Given the description of an element on the screen output the (x, y) to click on. 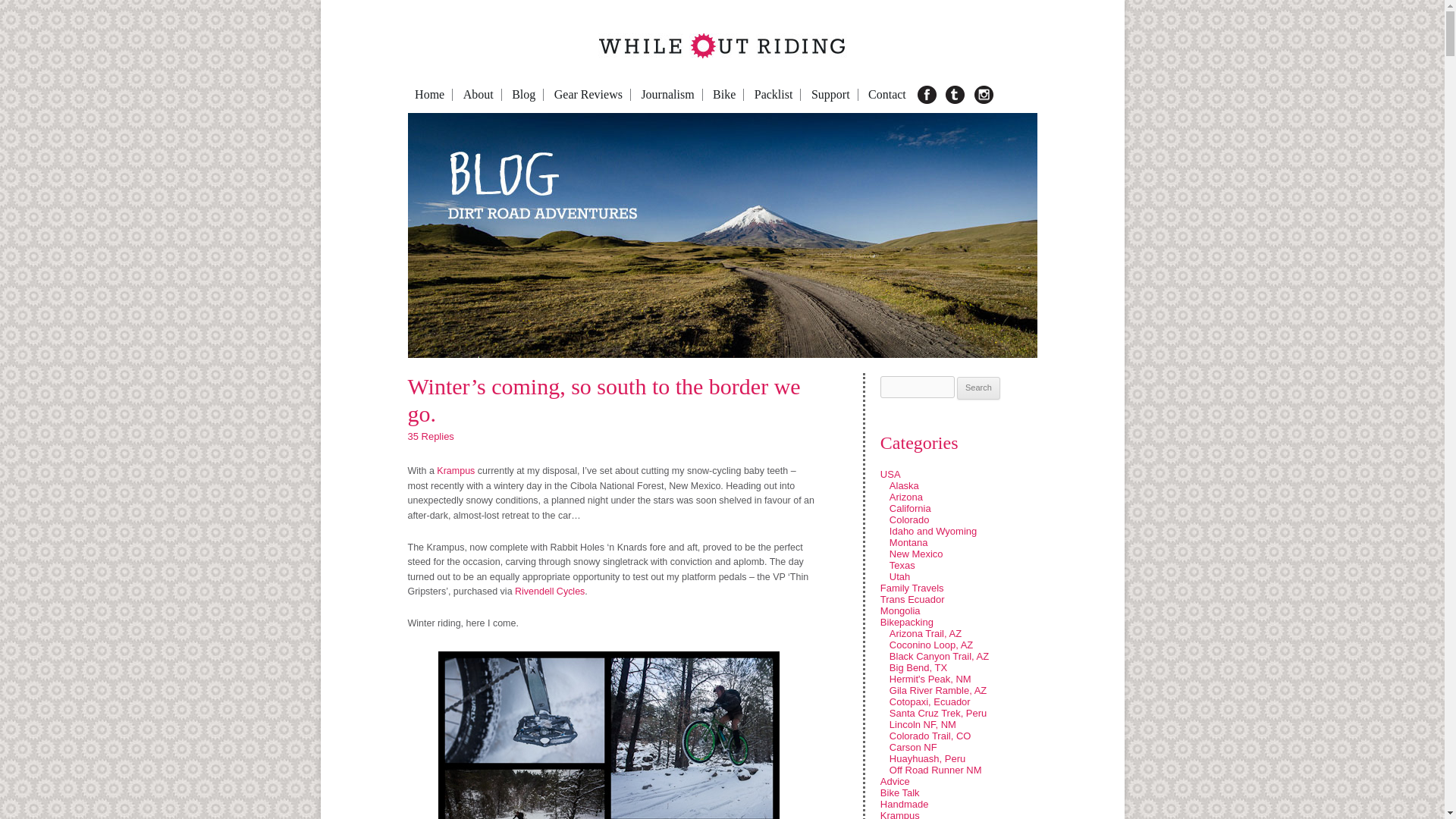
Gear Reviews (588, 94)
Contact (887, 94)
FB (928, 94)
Rivendell Cycles (550, 591)
Search (978, 387)
View all posts filed under New Mexico (916, 553)
Menu Item (1004, 94)
Bike (724, 94)
Journalism (667, 94)
